Given the description of an element on the screen output the (x, y) to click on. 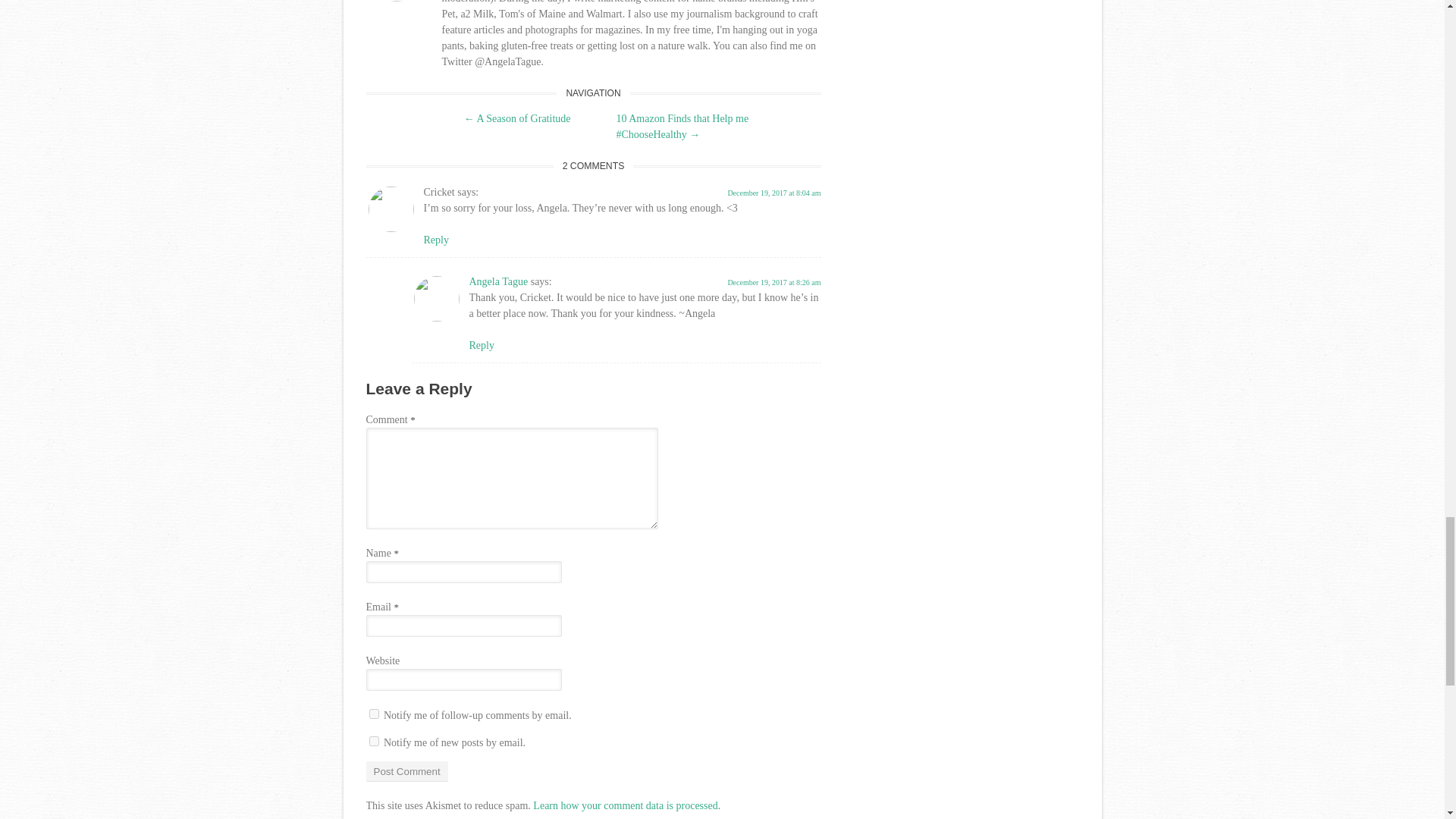
Post Comment (405, 771)
subscribe (373, 741)
subscribe (373, 714)
